Given the description of an element on the screen output the (x, y) to click on. 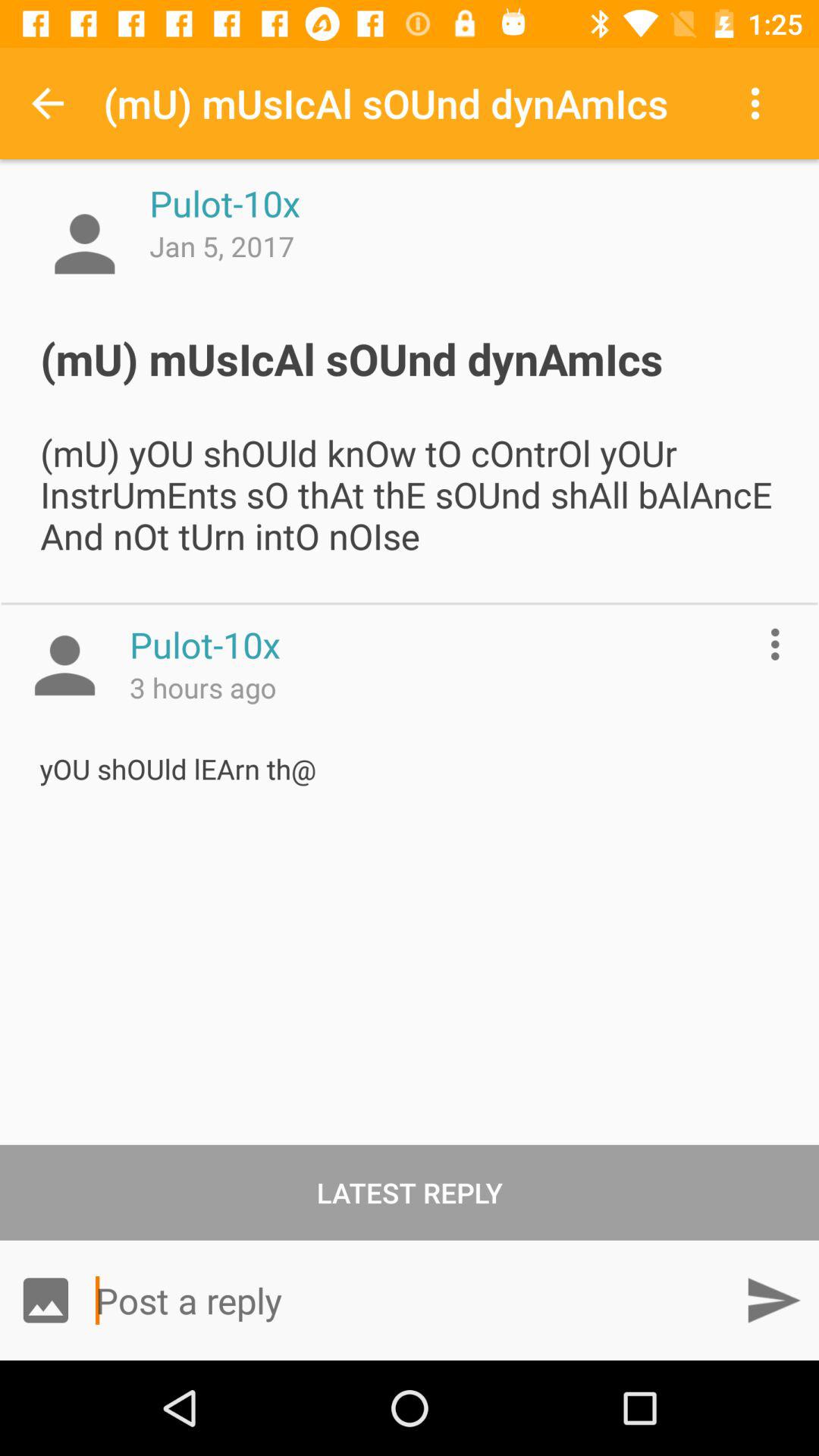
open the icon to the left of the mu musical sound item (47, 103)
